Given the description of an element on the screen output the (x, y) to click on. 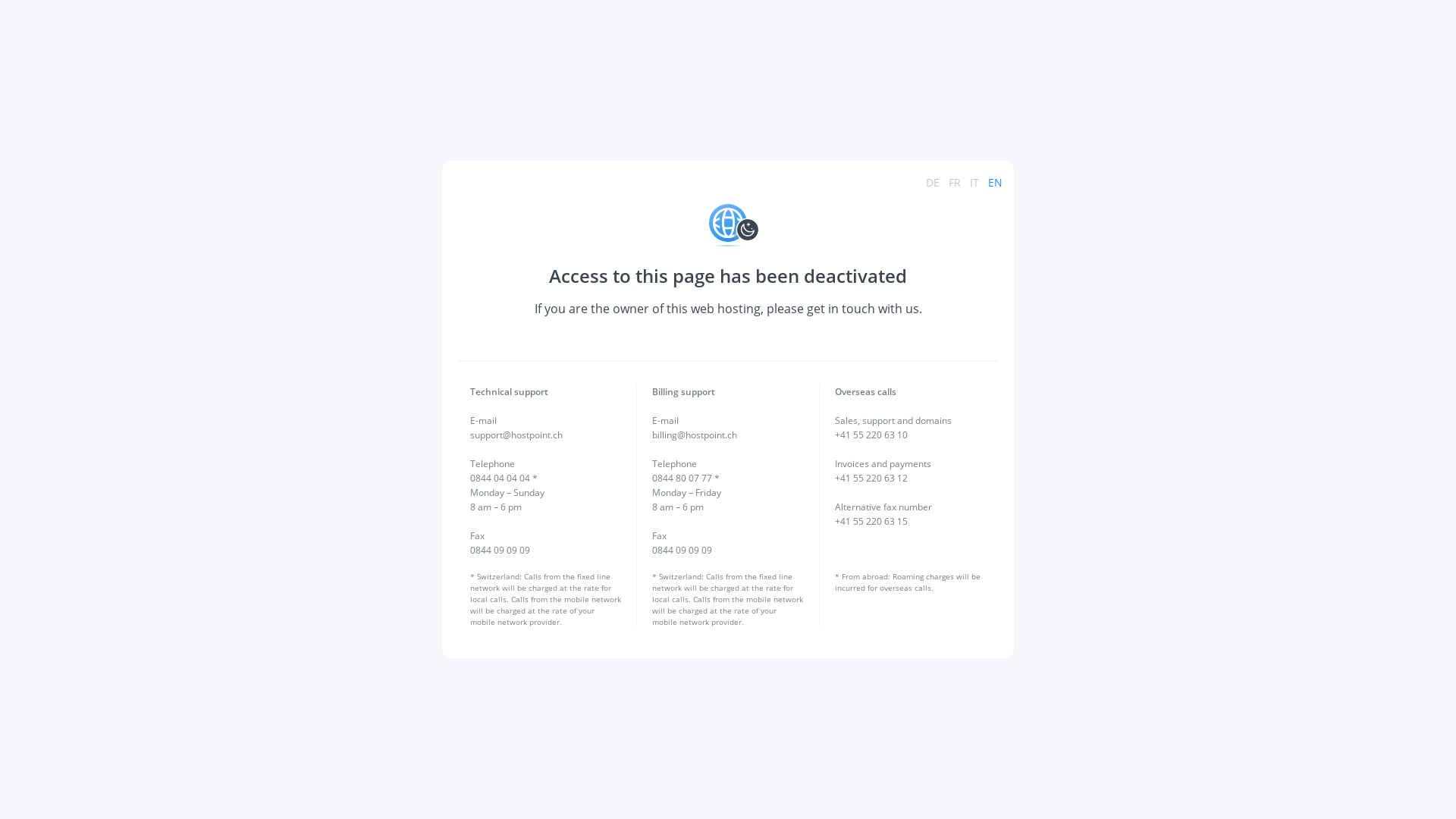
support@hostpoint.ch Element type: text (516, 434)
billing@hostpoint.ch Element type: text (694, 434)
